Given the description of an element on the screen output the (x, y) to click on. 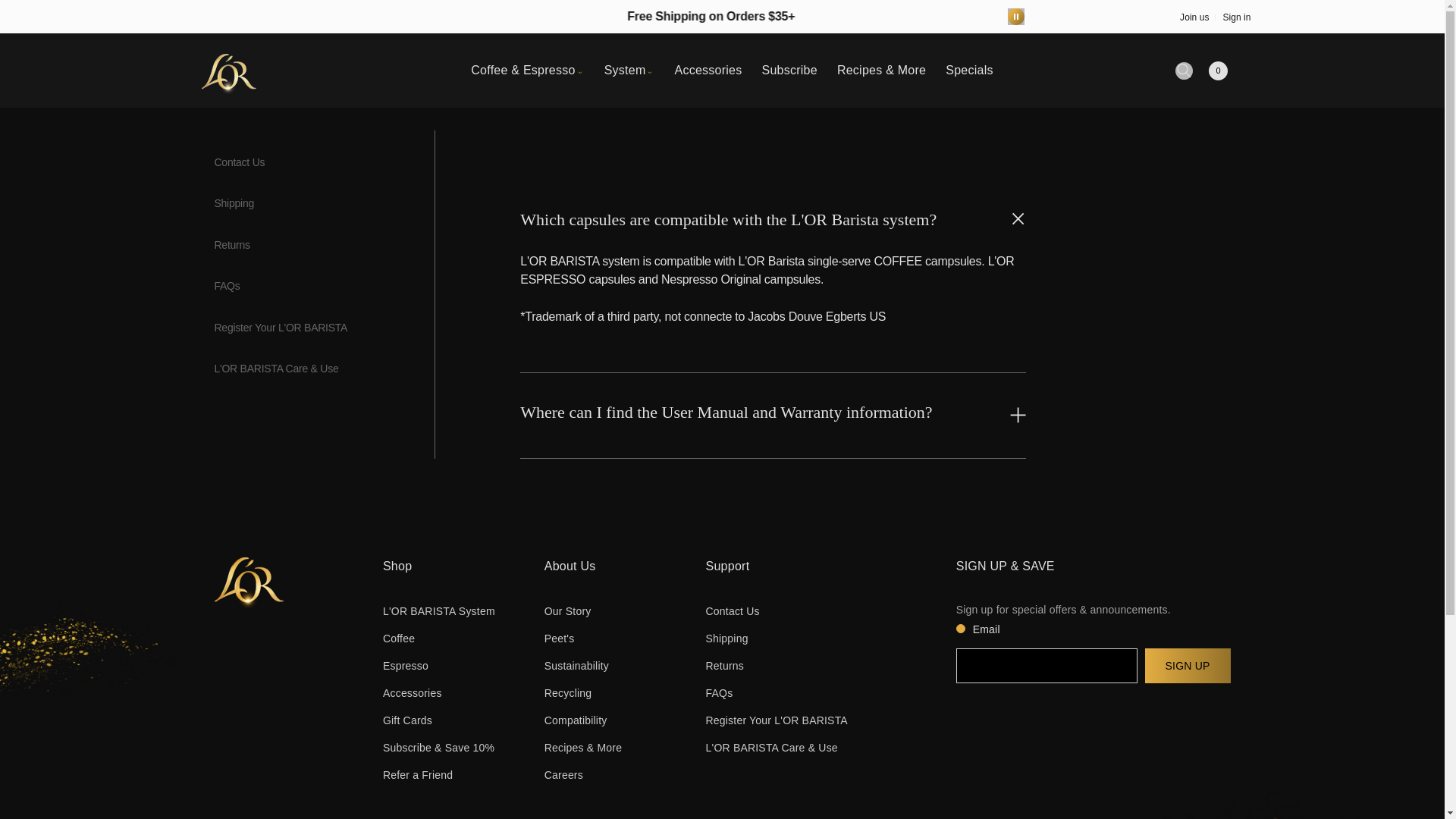
Specials (968, 70)
System (625, 70)
Subscribe (788, 70)
Logo and a custom link (227, 70)
SKIP TO CONTENT (45, 16)
Search (1183, 70)
Accessories (707, 70)
PAUSE (1016, 16)
System (625, 70)
Customer navigation (1211, 17)
Join us (1194, 17)
Utilities navigation (1185, 69)
Logo and a custom link navigation (246, 70)
Sign in (1232, 17)
